Given the description of an element on the screen output the (x, y) to click on. 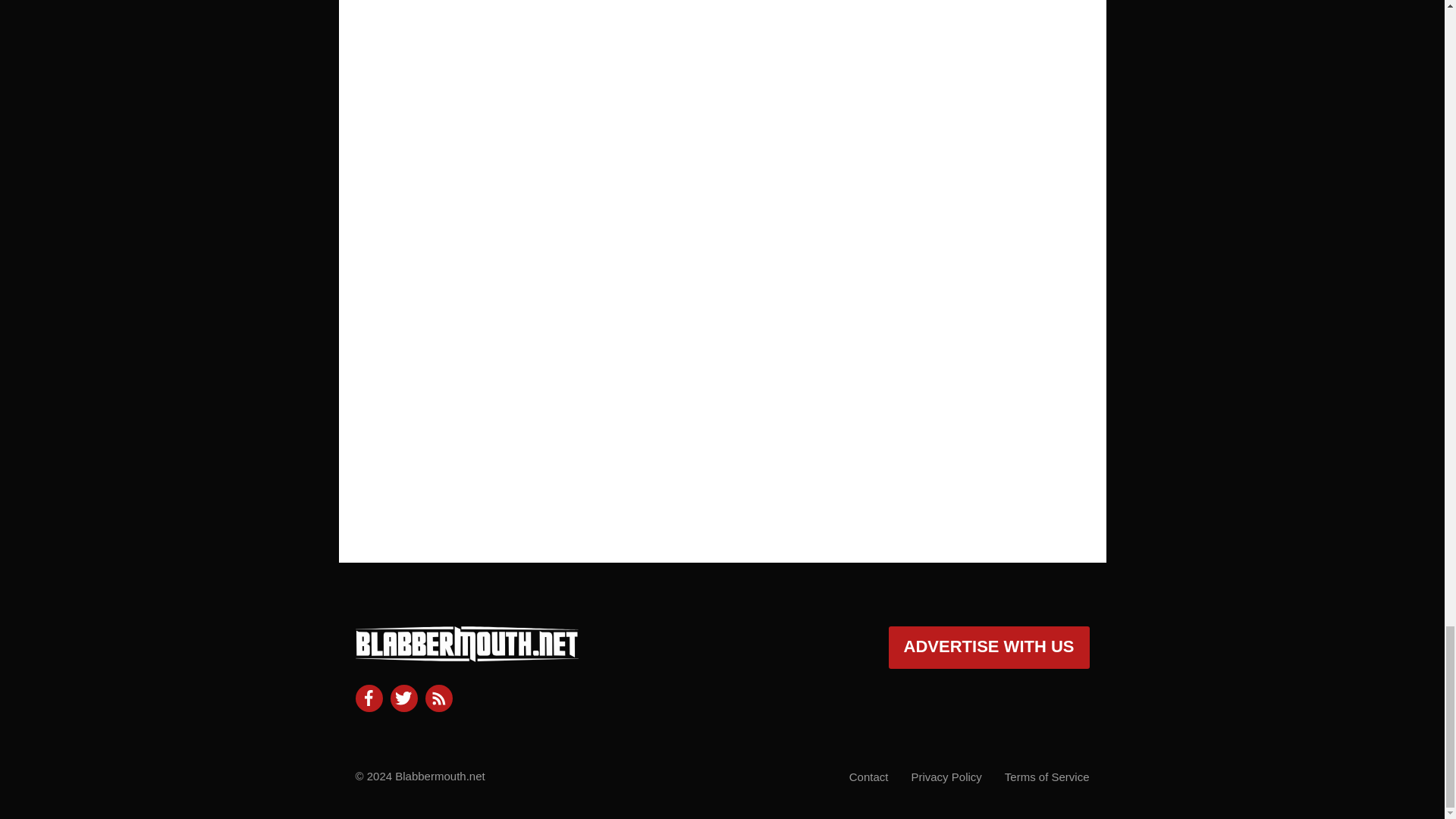
blabbermouth (466, 654)
